Given the description of an element on the screen output the (x, y) to click on. 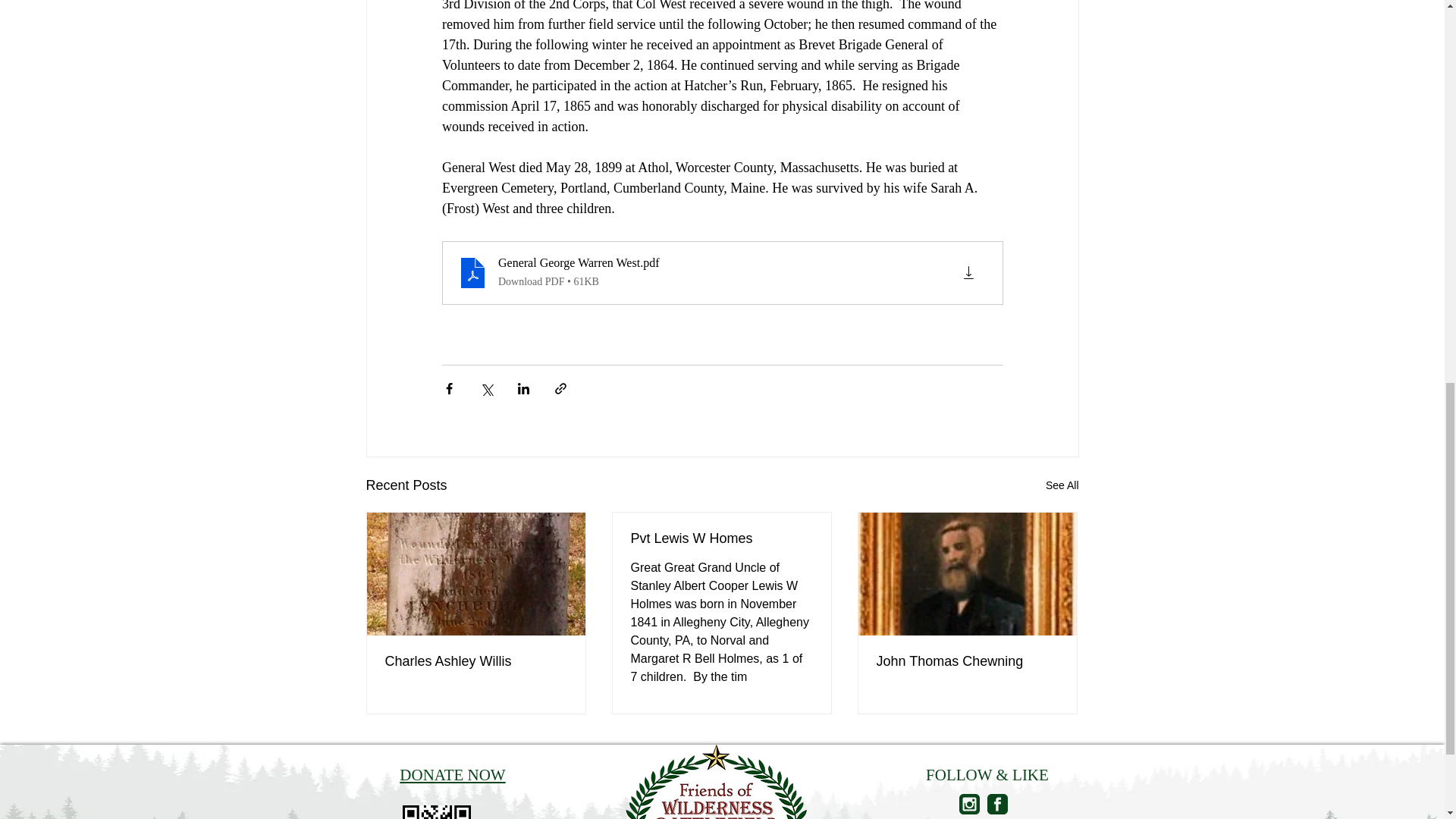
See All (1061, 485)
John Thomas Chewning (967, 661)
DONATE NOW (451, 774)
Charles Ashley Willis (476, 661)
Pvt Lewis W Homes (721, 538)
